Given the description of an element on the screen output the (x, y) to click on. 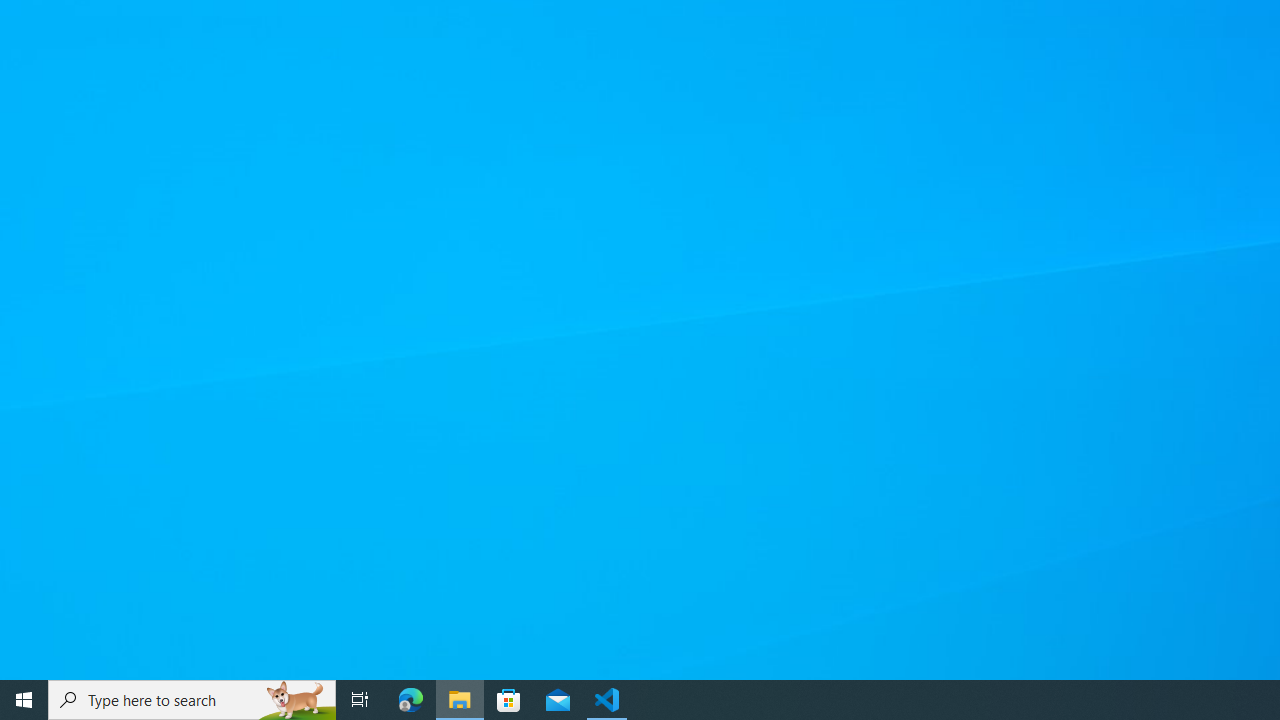
Start (24, 699)
Microsoft Edge (411, 699)
Visual Studio Code - 1 running window (607, 699)
Type here to search (191, 699)
Microsoft Store (509, 699)
Task View (359, 699)
File Explorer - 1 running window (460, 699)
Search highlights icon opens search home window (295, 699)
